Given the description of an element on the screen output the (x, y) to click on. 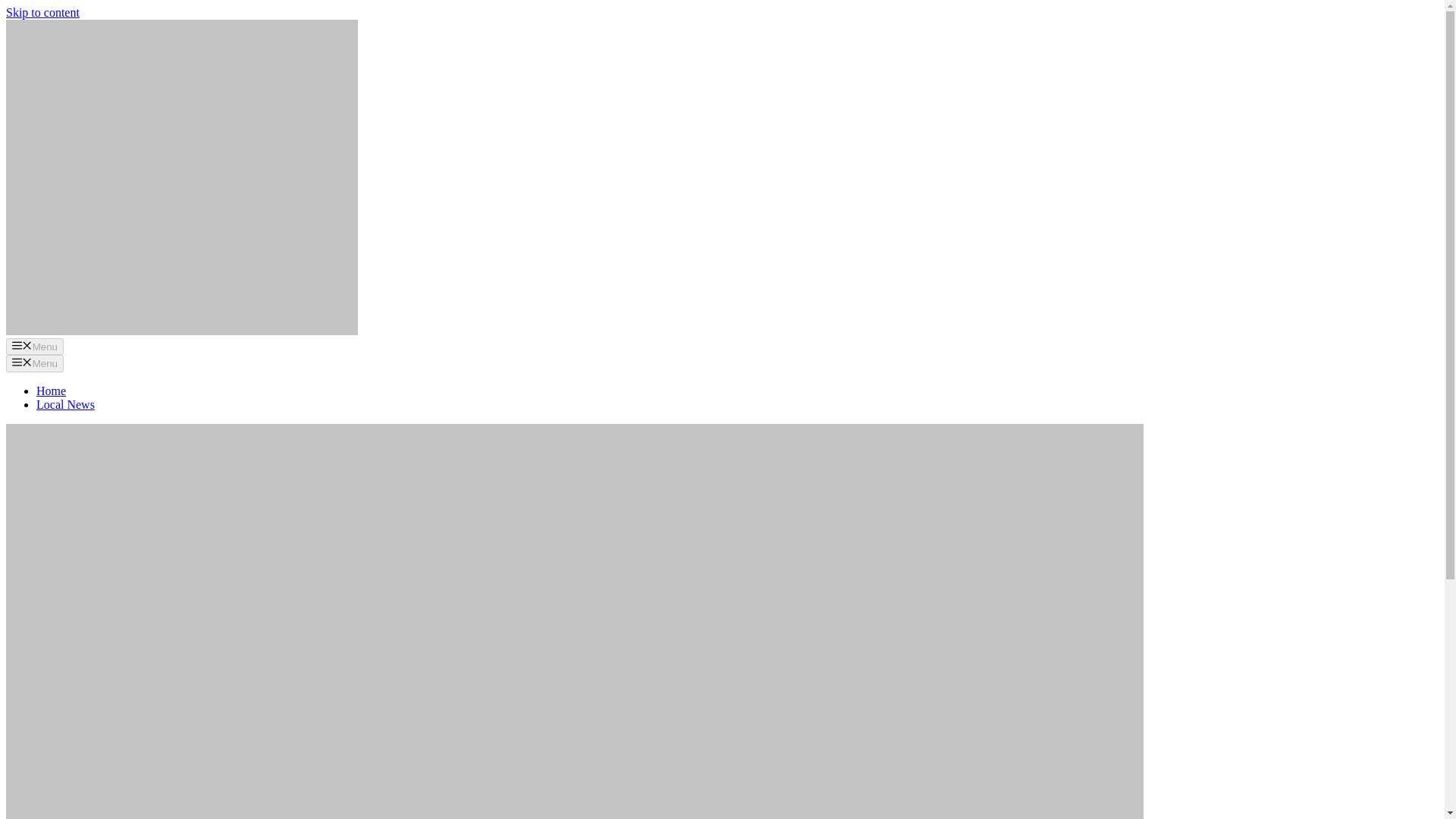
Home (50, 390)
Local News (65, 404)
Skip to content (42, 11)
Menu (34, 362)
Menu (34, 346)
Skip to content (42, 11)
